Given the description of an element on the screen output the (x, y) to click on. 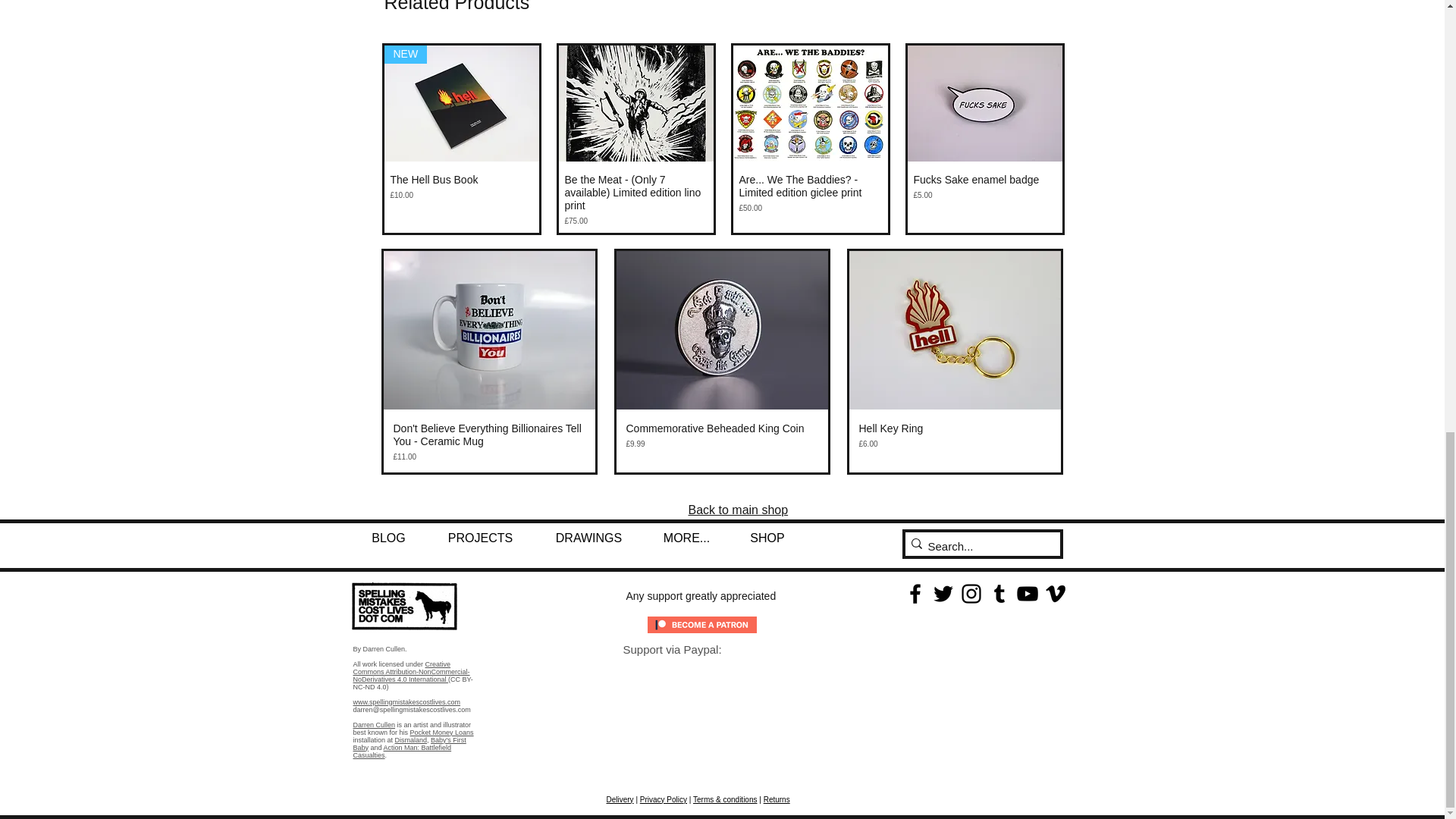
Patreon (702, 624)
